Given the description of an element on the screen output the (x, y) to click on. 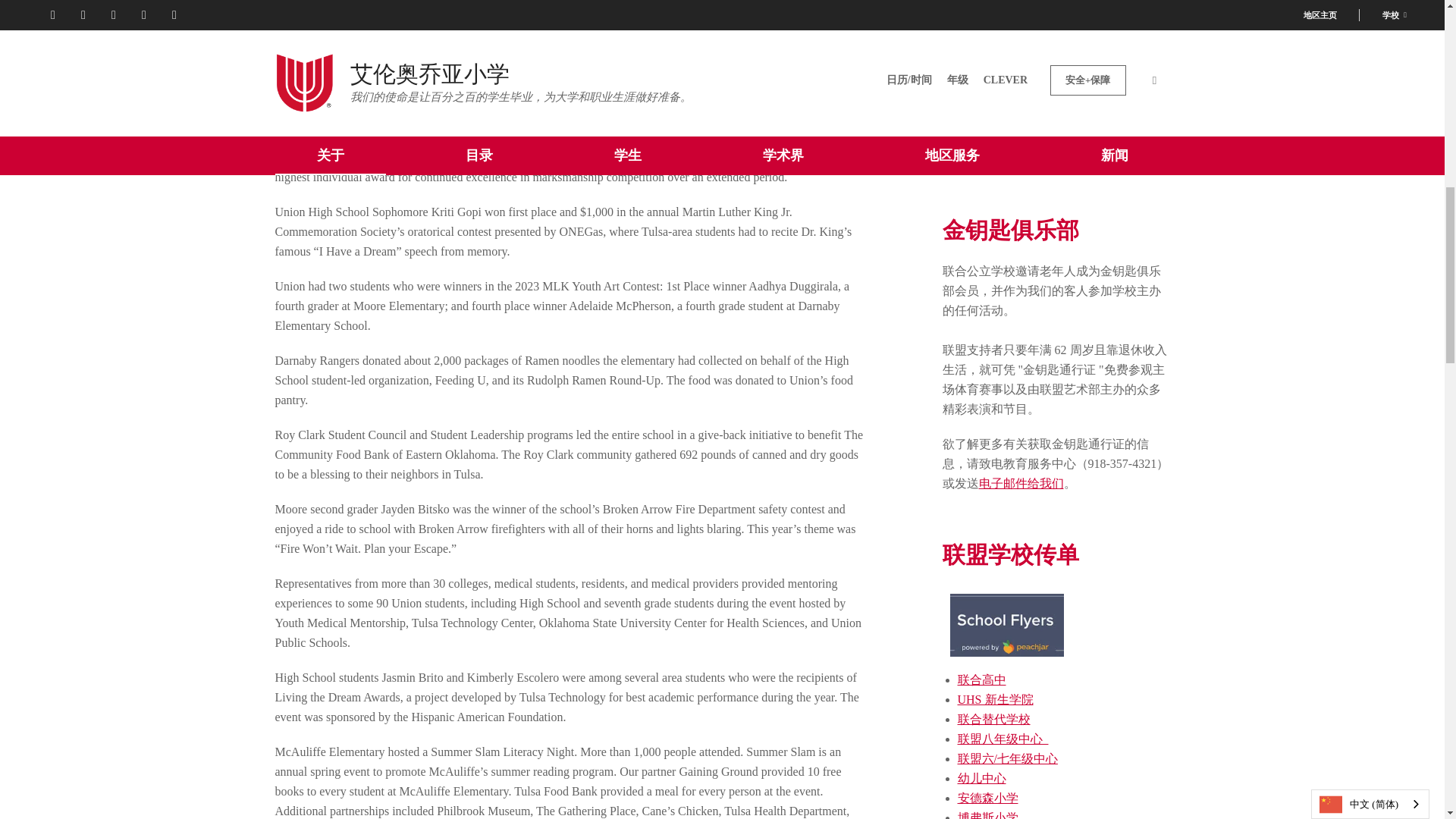
Reports Page (1103, 158)
